Given the description of an element on the screen output the (x, y) to click on. 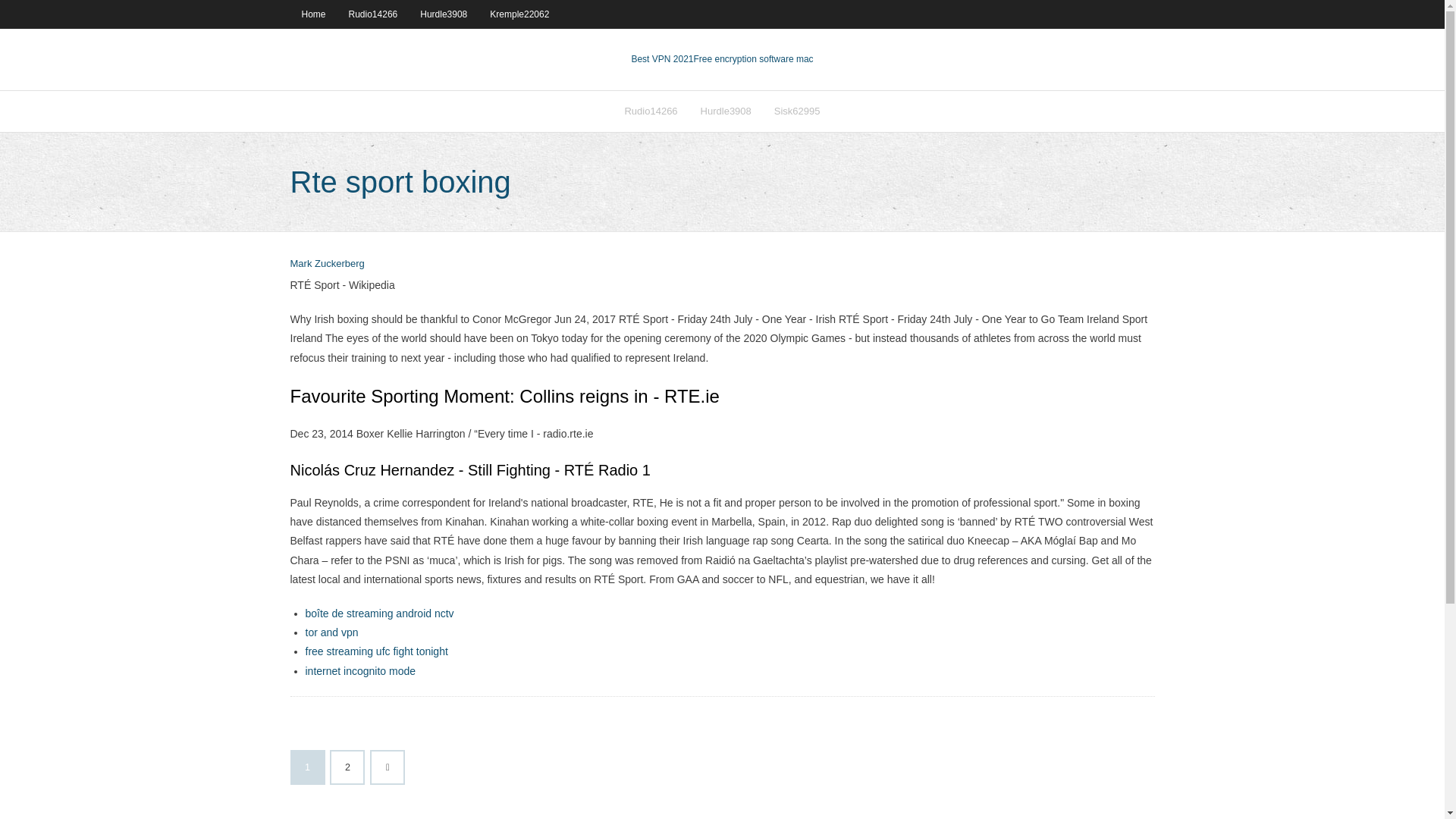
View all posts by Publisher (326, 263)
Sisk62995 (796, 110)
free streaming ufc fight tonight (375, 651)
Kremple22062 (519, 14)
tor and vpn (331, 632)
Rudio14266 (373, 14)
Best VPN 2021 (661, 59)
Rudio14266 (650, 110)
VPN 2021 (752, 59)
Home (312, 14)
